Given the description of an element on the screen output the (x, y) to click on. 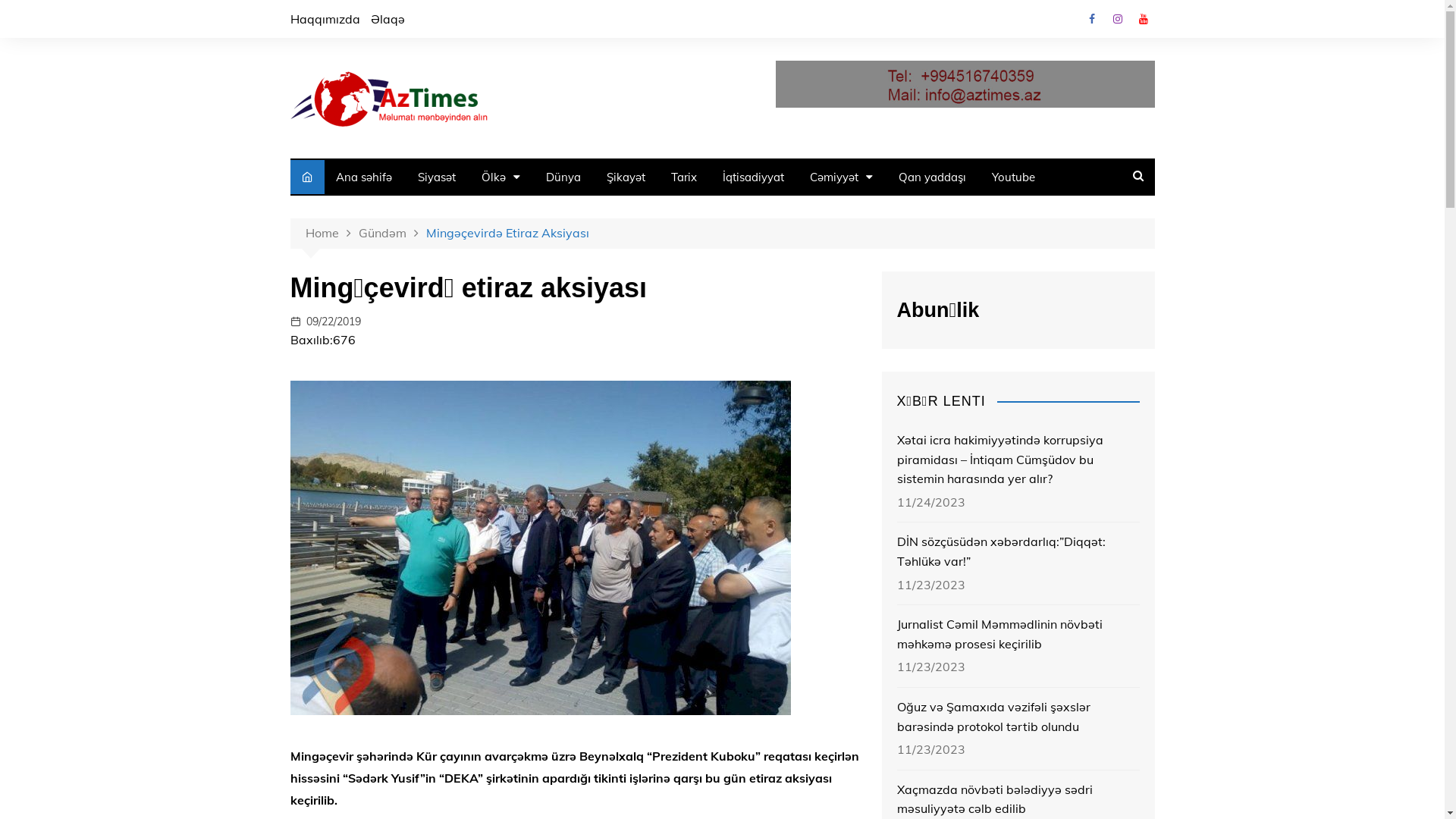
Tarix Element type: text (683, 176)
Instagram Element type: text (1116, 18)
Youtube Element type: text (1012, 176)
Home Element type: text (330, 233)
Facebook Element type: text (1090, 18)
09/22/2019 Element type: text (333, 321)
Youtube Element type: text (1142, 18)
